Given the description of an element on the screen output the (x, y) to click on. 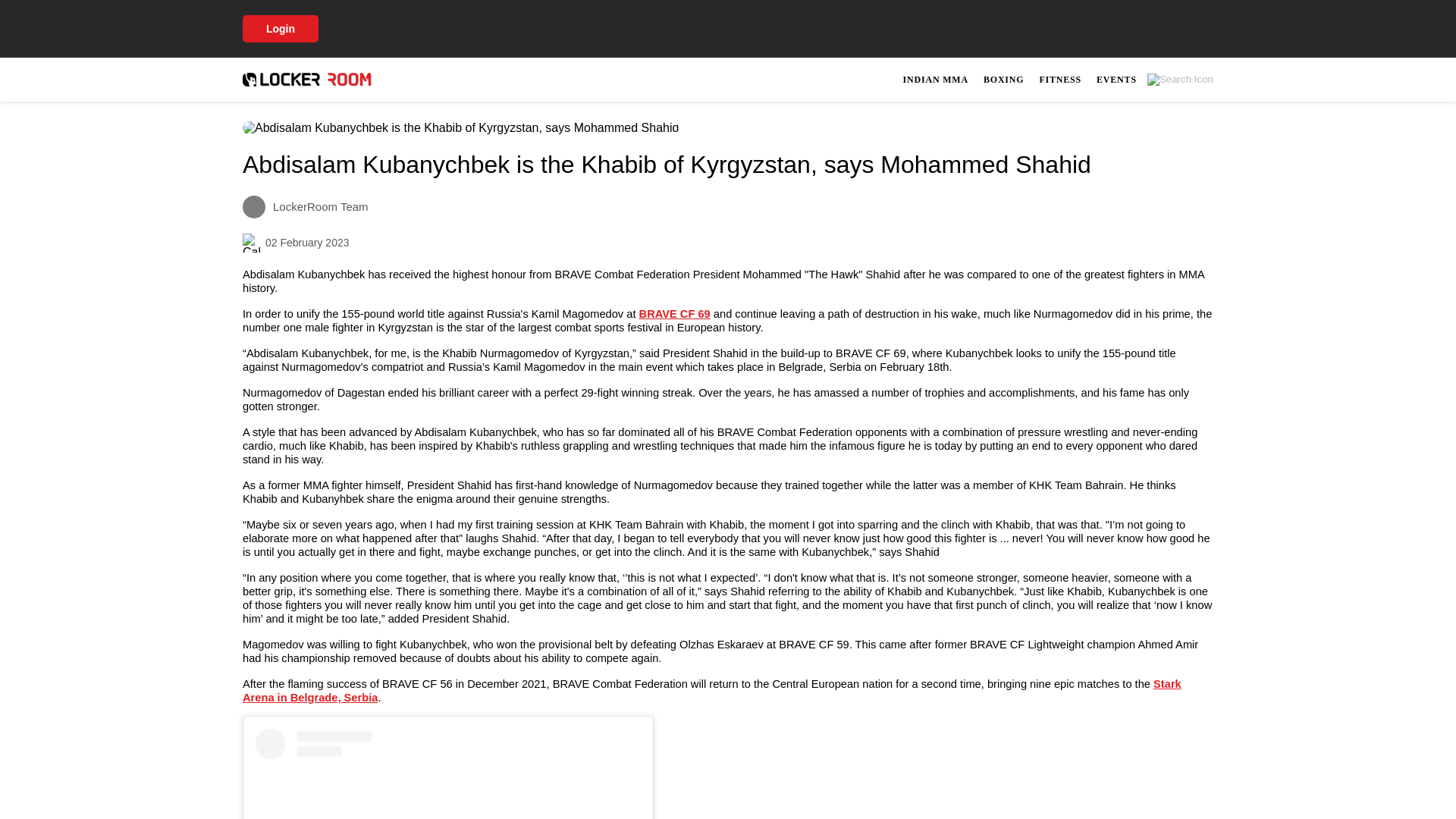
FITNESS (1059, 78)
INDIAN MMA (935, 78)
BOXING (1002, 78)
BRAVE CF 69 (1055, 78)
Stark Arena in Belgrade, Serbia (674, 313)
EVENTS (711, 690)
View this post on Instagram (1116, 78)
